Given the description of an element on the screen output the (x, y) to click on. 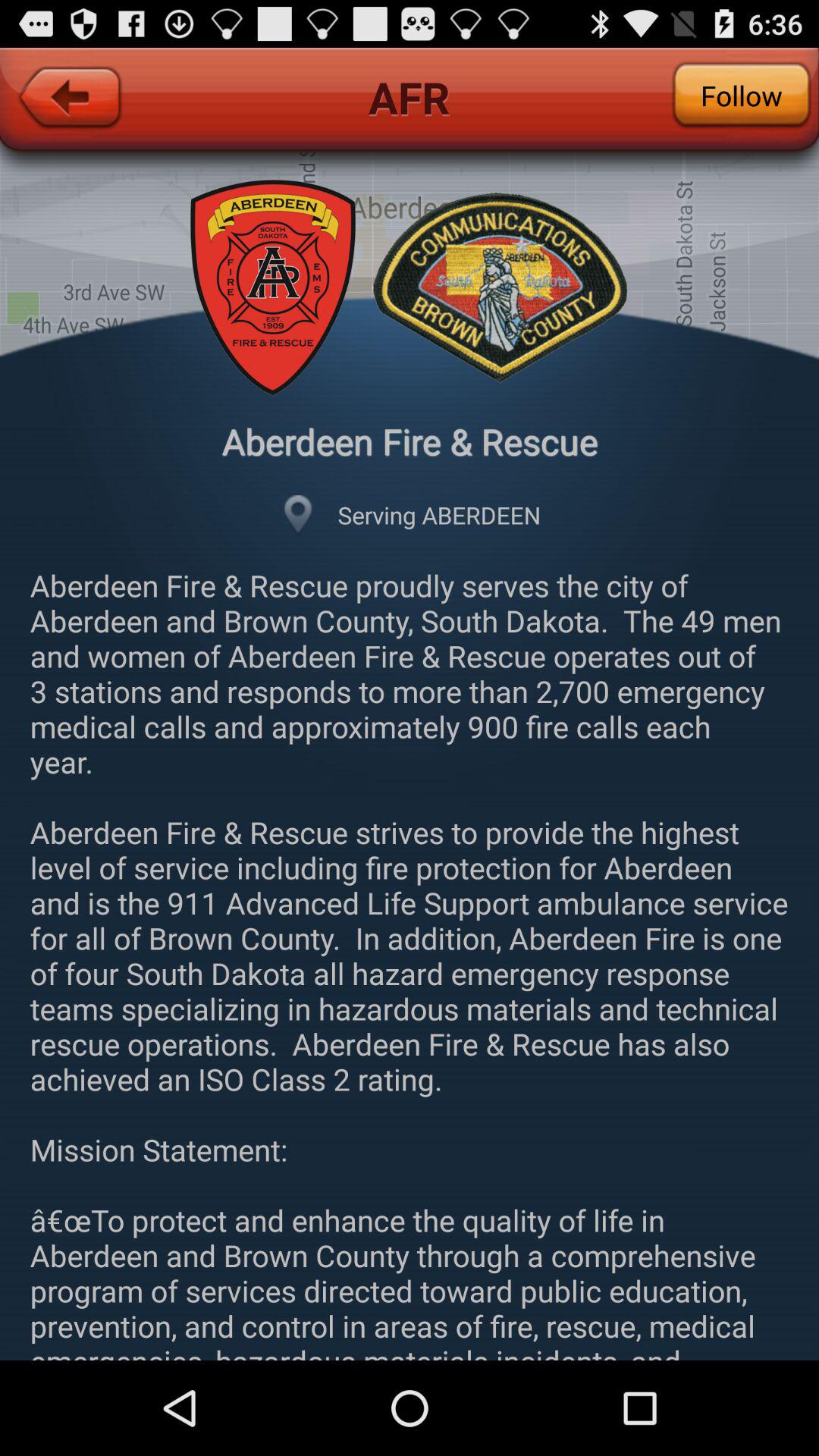
click on map icon (297, 515)
